Given the description of an element on the screen output the (x, y) to click on. 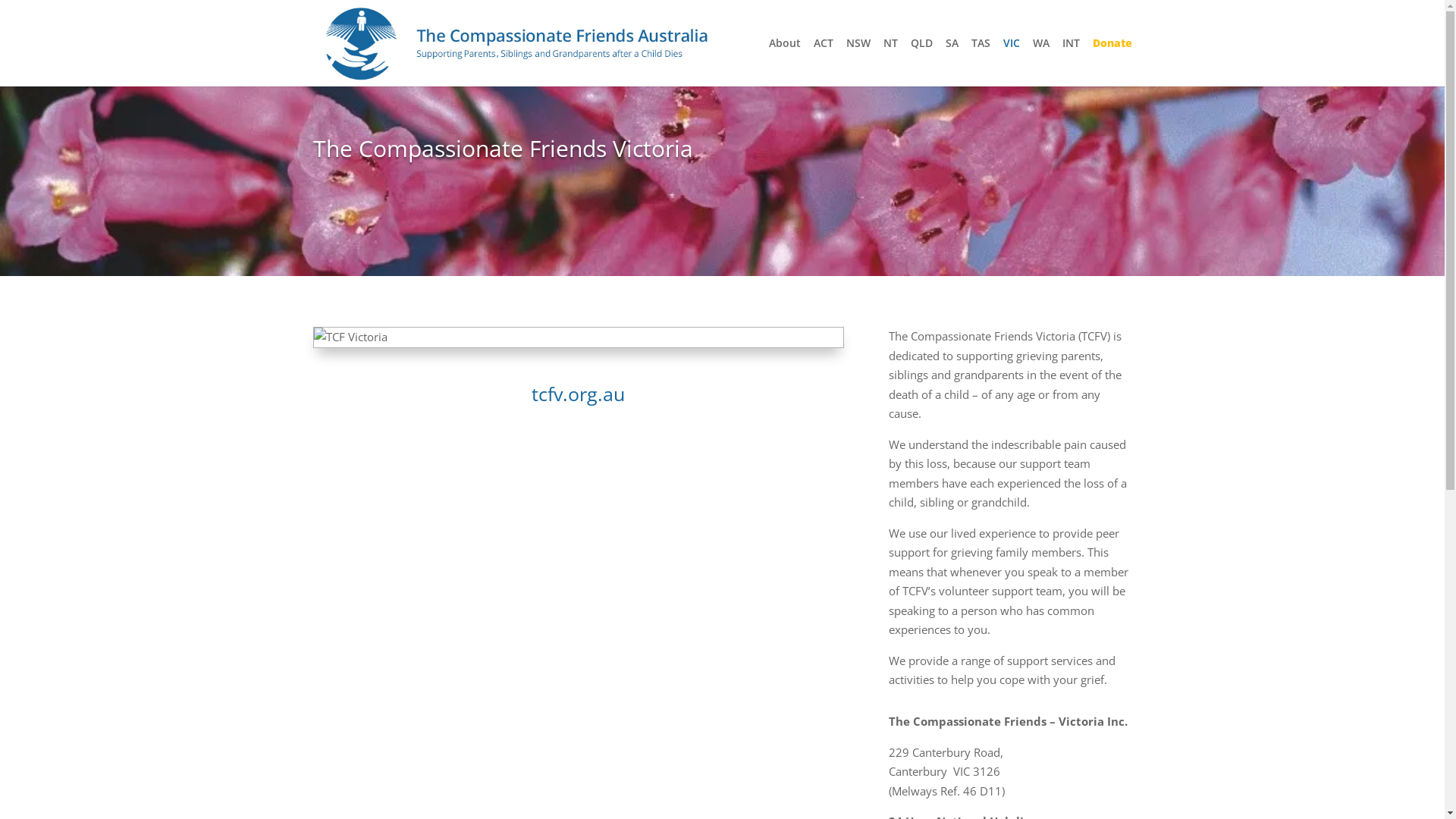
TAS Element type: text (979, 61)
NT Element type: text (889, 61)
SA Element type: text (950, 61)
INT Element type: text (1070, 61)
tcfv.org.au Element type: text (577, 393)
Donate Element type: text (1111, 61)
About Element type: text (784, 61)
NSW Element type: text (858, 61)
VIC Element type: text (1010, 61)
ACT Element type: text (822, 61)
QLD Element type: text (920, 61)
WA Element type: text (1040, 61)
